Given the description of an element on the screen output the (x, y) to click on. 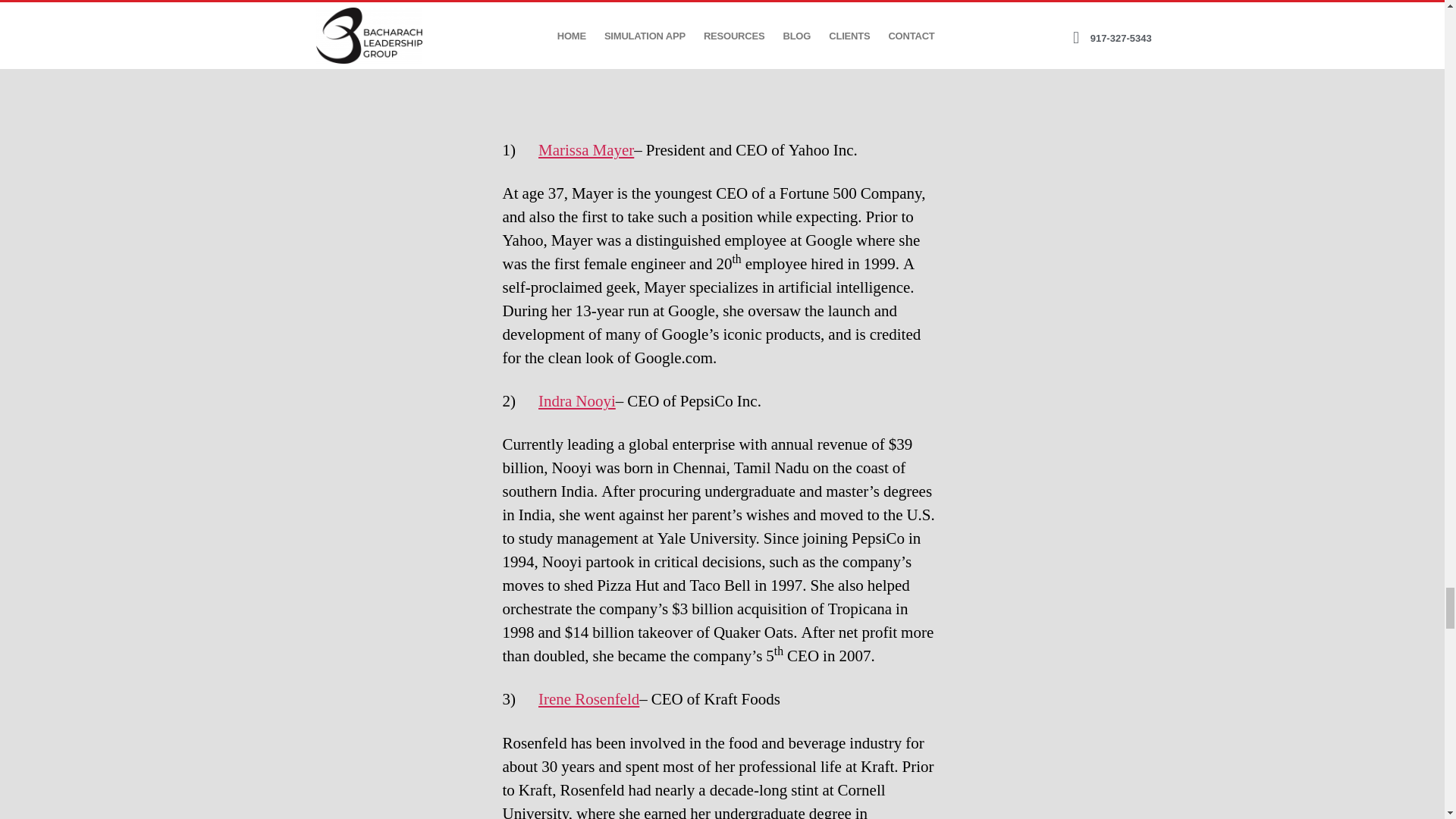
Cornell Extension women (722, 54)
